Given the description of an element on the screen output the (x, y) to click on. 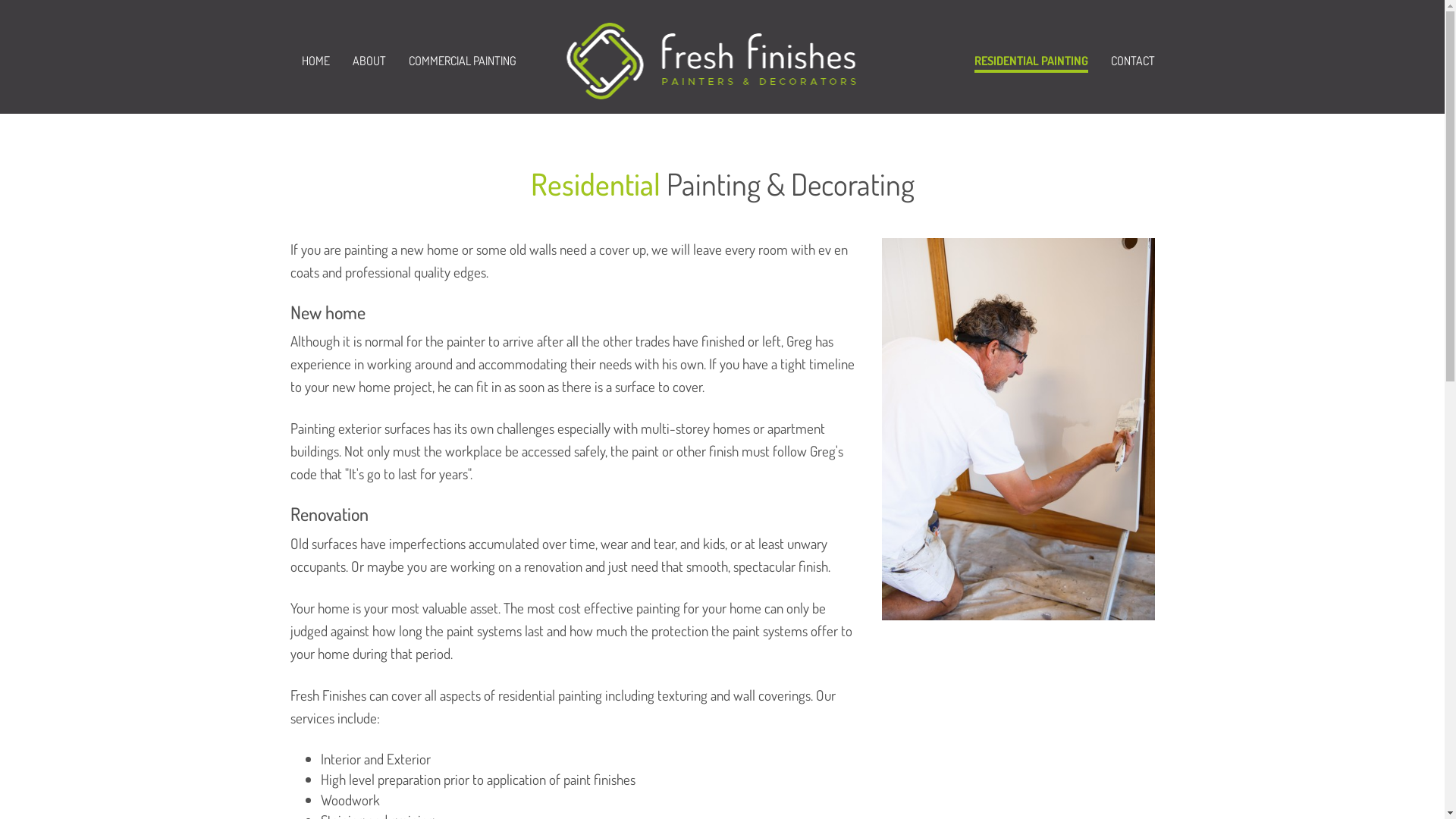
RESIDENTIAL PAINTING Element type: text (1030, 60)
HOME Element type: text (315, 60)
ABOUT Element type: text (368, 60)
COMMERCIAL PAINTING Element type: text (461, 60)
CONTACT Element type: text (1132, 60)
